Given the description of an element on the screen output the (x, y) to click on. 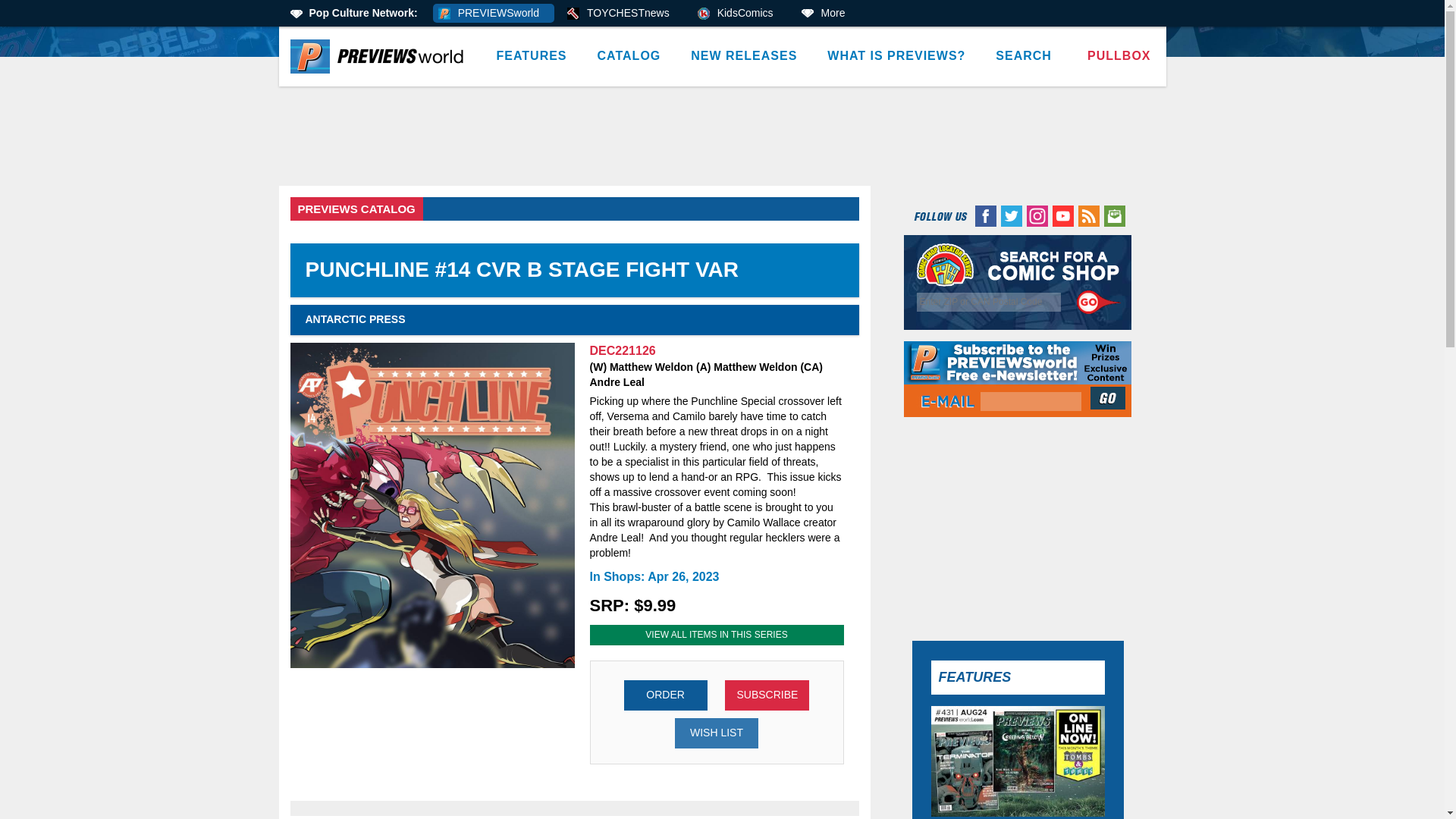
CATALOG (629, 55)
Join Our NewsLetter (1109, 397)
Enter ZIP or CAN Postal Code (989, 302)
FEATURES (530, 55)
More (828, 13)
PREVIEWSworld (493, 13)
Email Address Input for Newsletter Signup (1030, 401)
TOYCHESTnews (623, 13)
KidsComics (741, 13)
